Given the description of an element on the screen output the (x, y) to click on. 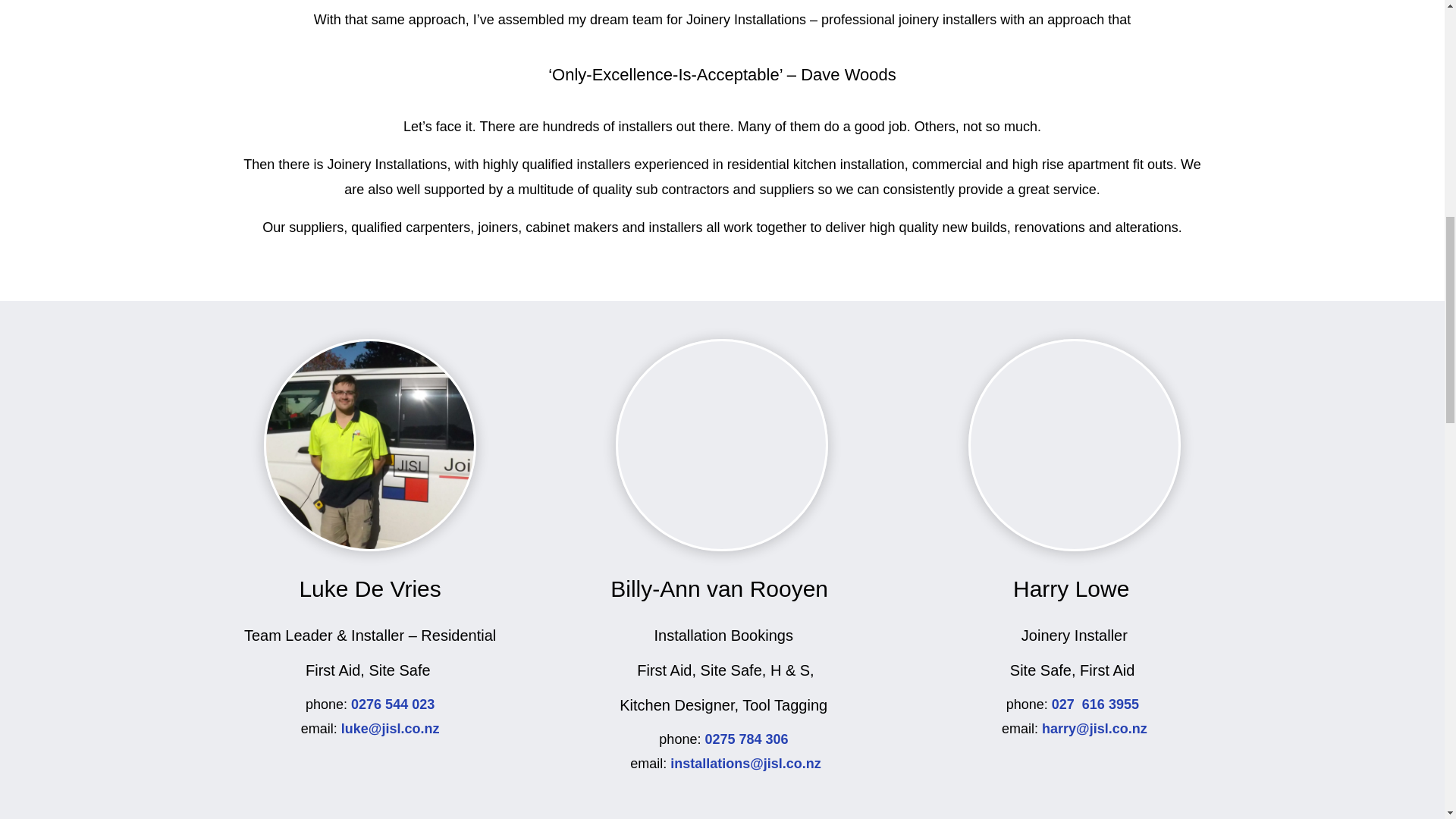
Luke DeVries (370, 444)
0276 544 023 (391, 703)
0275 784 306  (748, 738)
027  616 3955  (1096, 703)
